Given the description of an element on the screen output the (x, y) to click on. 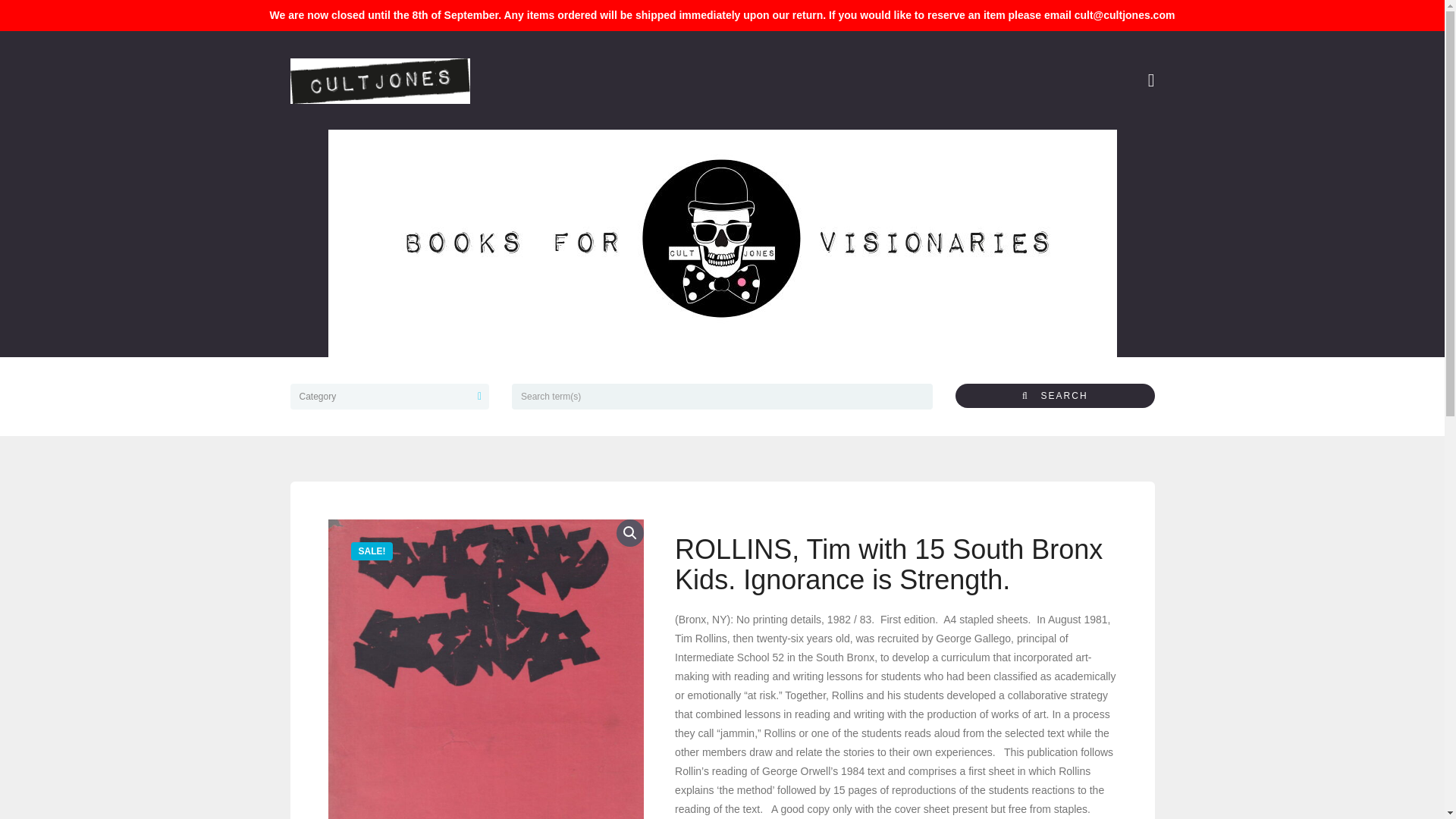
Objects (520, 152)
Home (392, 152)
  SEARCH (1054, 395)
Artworks (594, 152)
OBJECTS (520, 152)
ARTWORKS (594, 152)
CONTACT (979, 152)
BOOKS (452, 152)
ABOUT ME (671, 152)
HOME (392, 152)
